Given the description of an element on the screen output the (x, y) to click on. 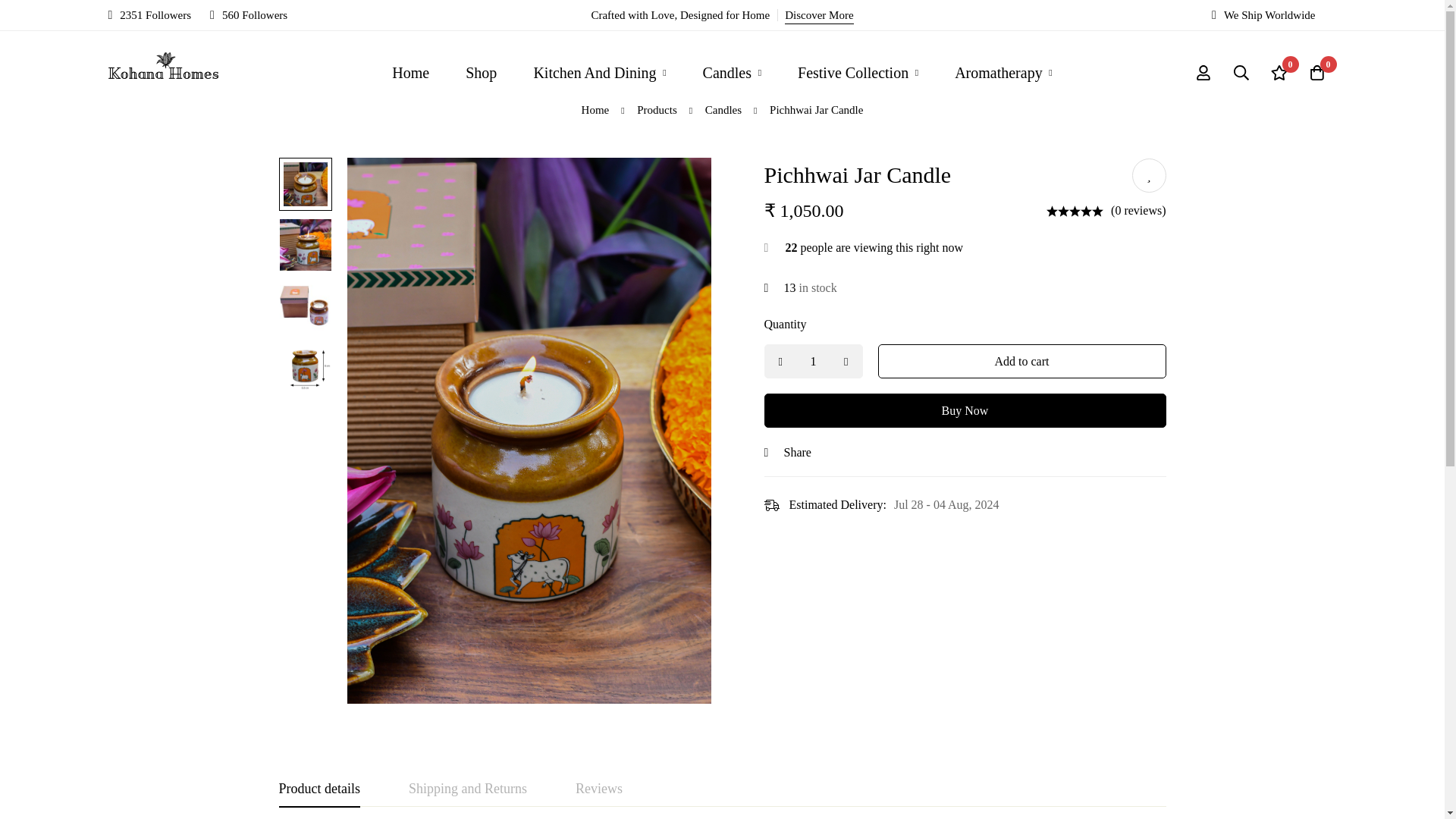
560 Followers (247, 14)
Kitchen And Dining (599, 72)
1 (813, 360)
Home (410, 72)
Shop (480, 72)
Discover More (818, 14)
Candles (731, 72)
2351 Followers (148, 14)
We Ship Worldwide (1262, 14)
Festive Collection (857, 72)
Aromatherapy (1002, 72)
